Given the description of an element on the screen output the (x, y) to click on. 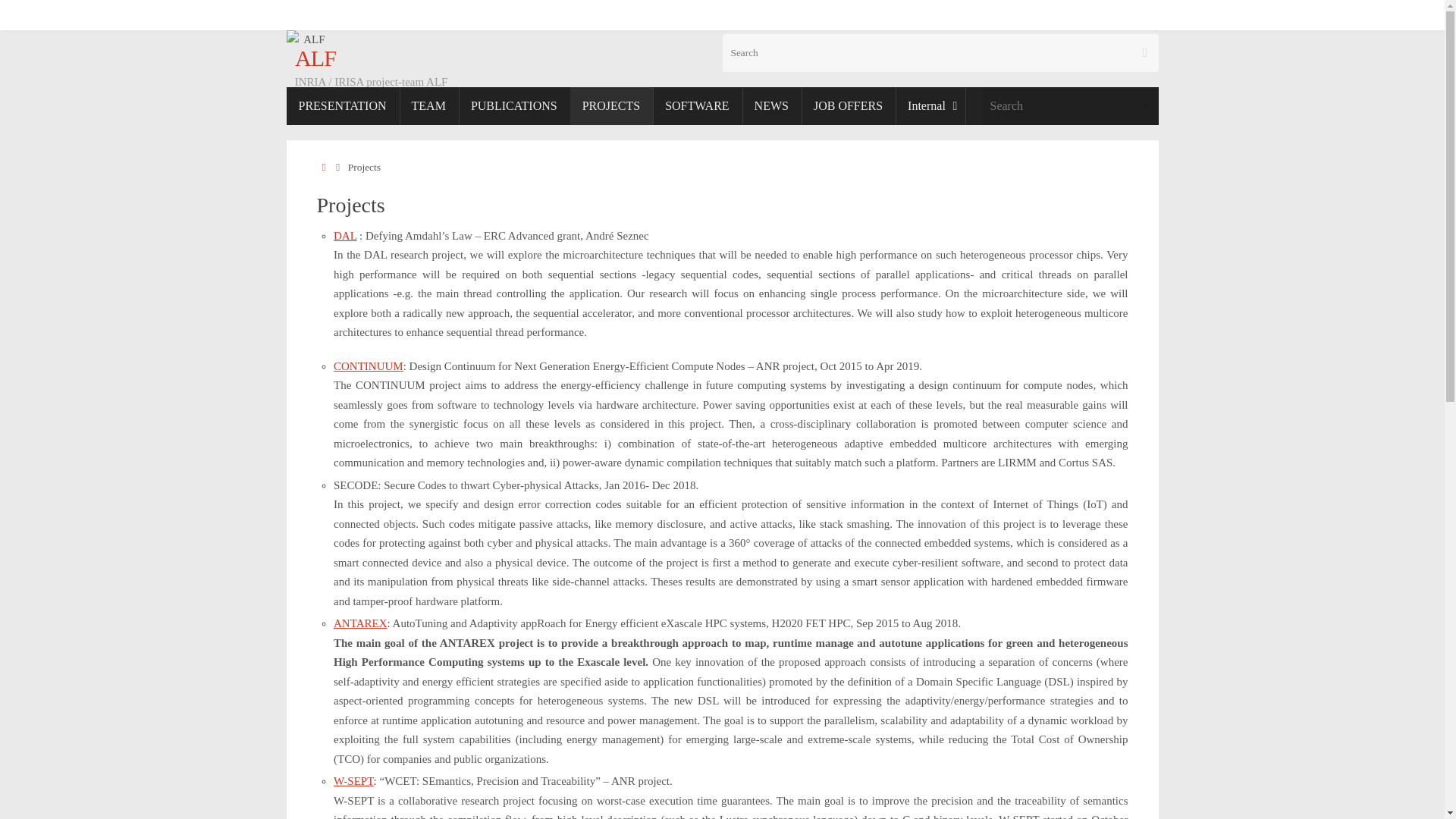
PUBLICATIONS (514, 105)
DAL (344, 235)
  ALF (311, 57)
CONTINUUM (368, 366)
ANTAREX (360, 623)
JOB OFFERS (848, 105)
PROJECTS (611, 105)
Home (324, 166)
SOFTWARE (696, 105)
TEAM (428, 105)
